Given the description of an element on the screen output the (x, y) to click on. 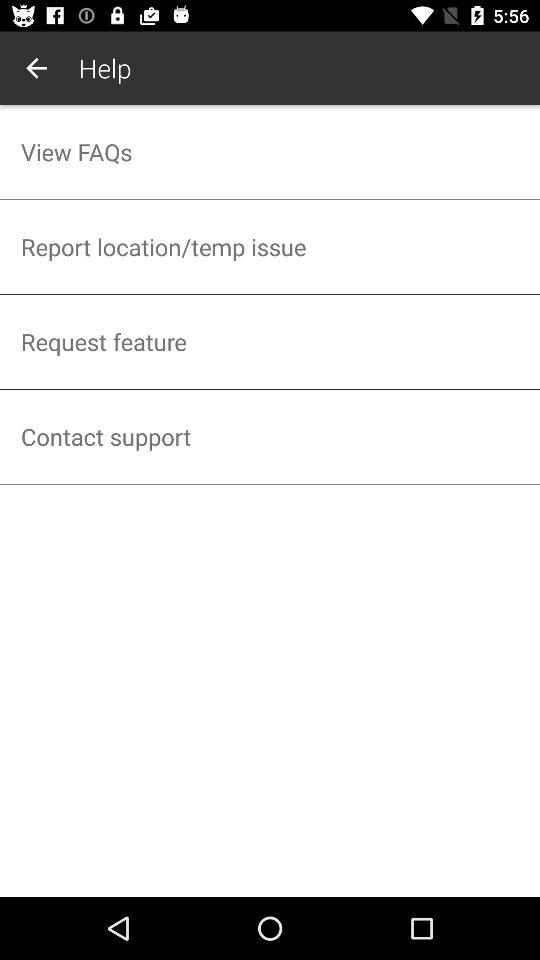
select view faqs item (270, 152)
